Given the description of an element on the screen output the (x, y) to click on. 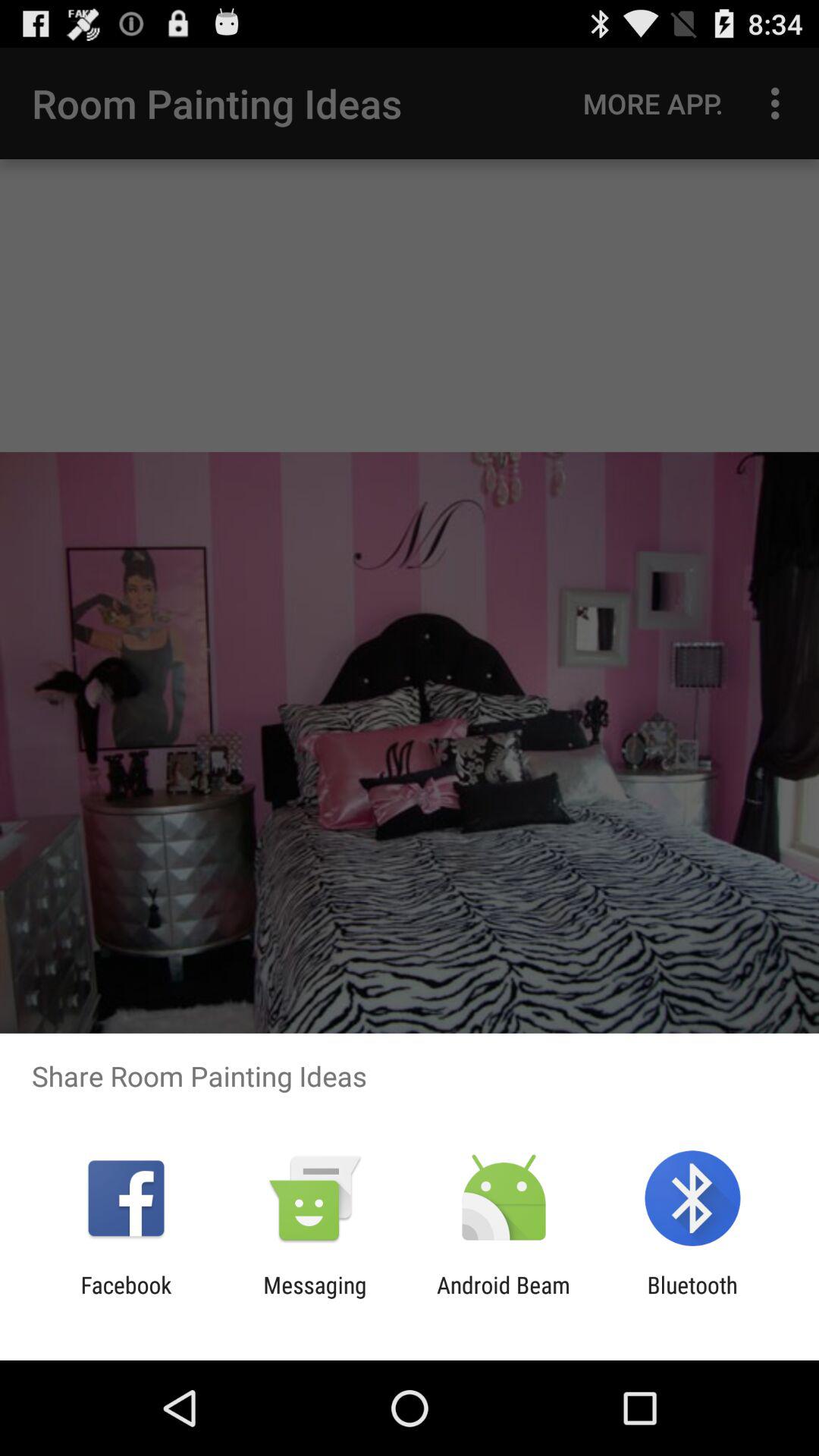
turn off the item next to android beam item (314, 1298)
